Given the description of an element on the screen output the (x, y) to click on. 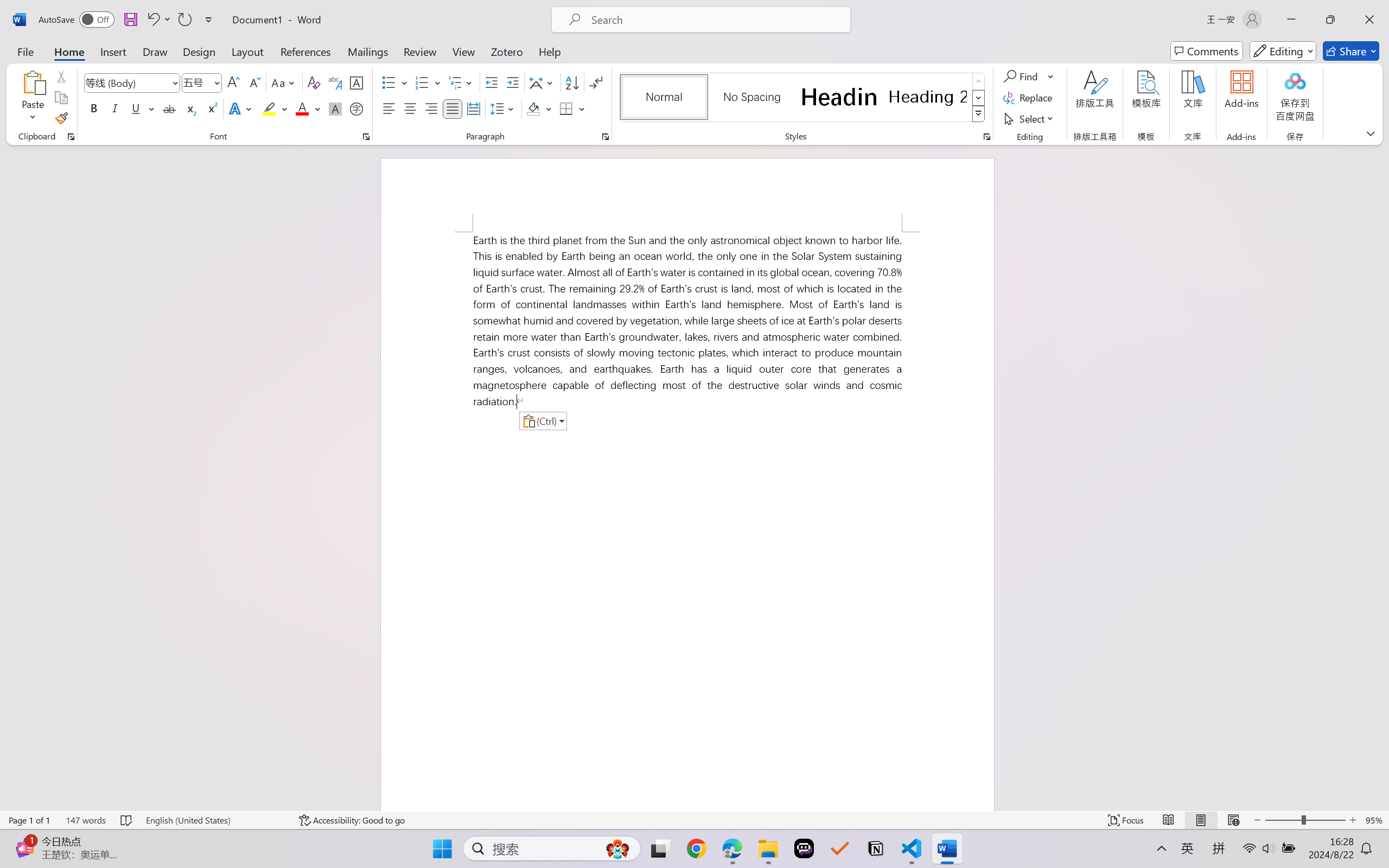
Heading 2 (927, 96)
Paragraph... (605, 136)
Clear Formatting (313, 82)
Undo Paste Text Only (152, 19)
Font Color (308, 108)
Superscript (210, 108)
Grow Font (233, 82)
